Given the description of an element on the screen output the (x, y) to click on. 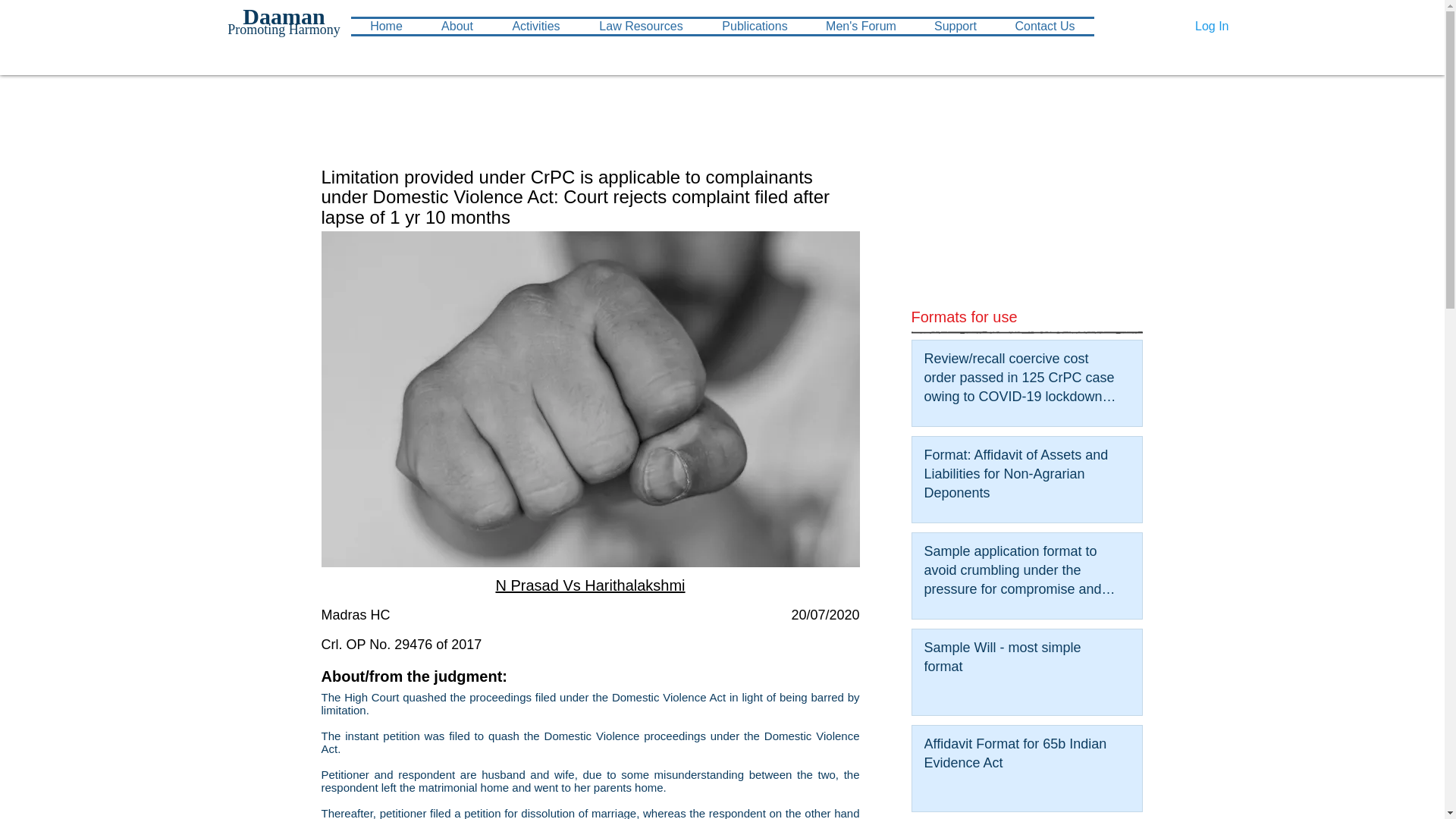
Affidavit Format for 65b Indian Evidence Act (1021, 756)
About (457, 26)
Support (954, 26)
Men's Forum (860, 26)
Log In (1212, 26)
Sample Will - most simple format (1021, 660)
Home (386, 26)
